Given the description of an element on the screen output the (x, y) to click on. 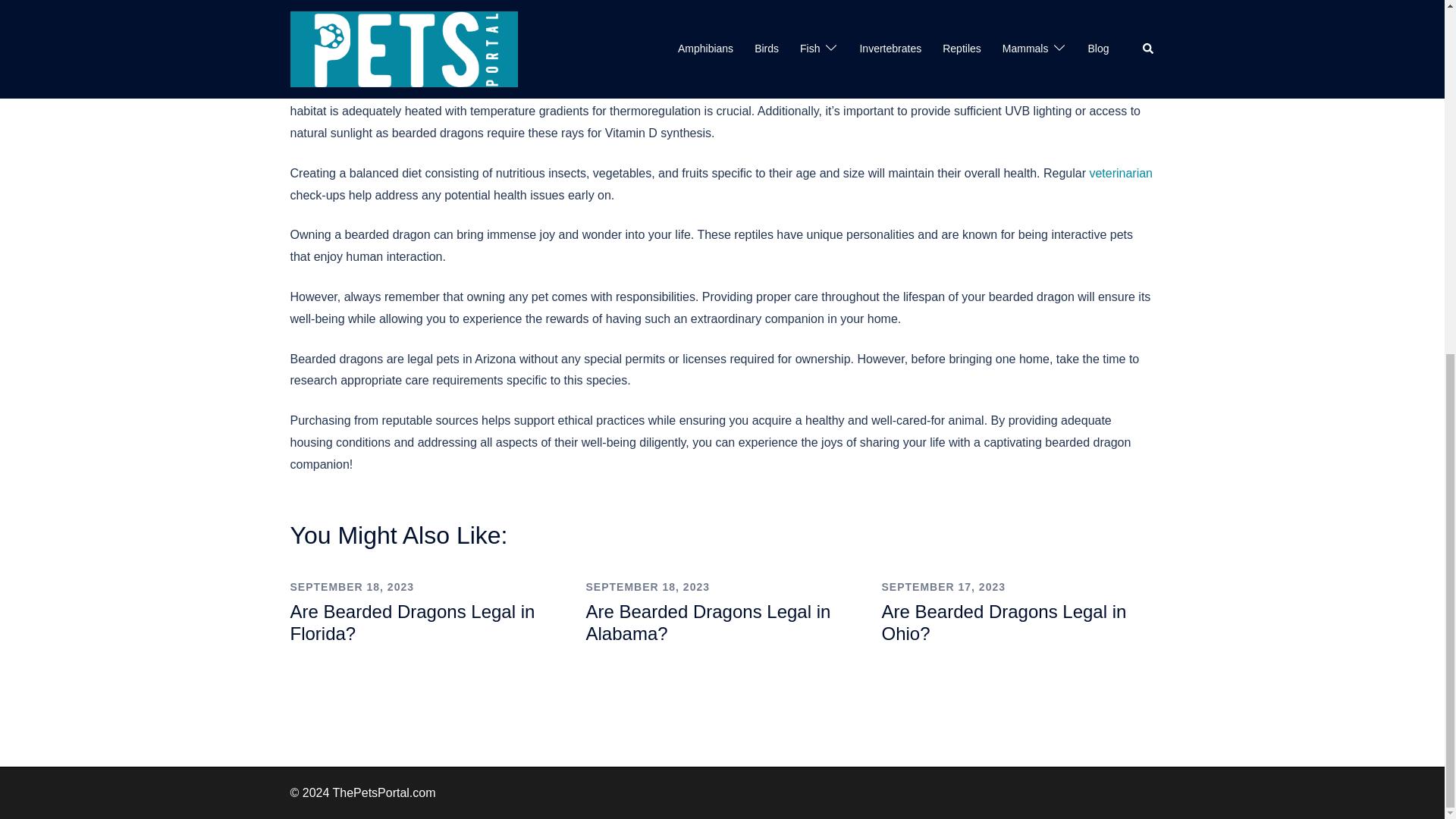
veterinarian (1121, 173)
